Given the description of an element on the screen output the (x, y) to click on. 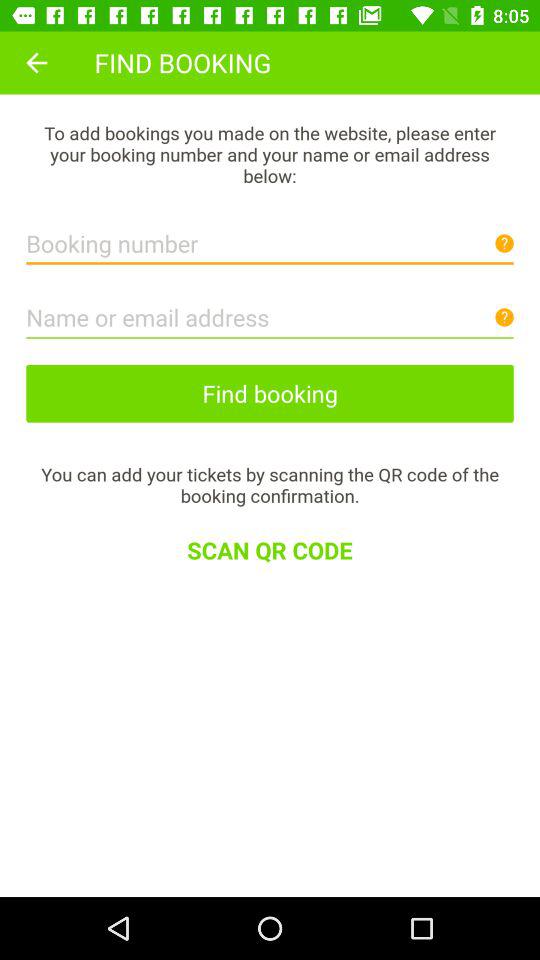
enter booking number here (269, 238)
